Given the description of an element on the screen output the (x, y) to click on. 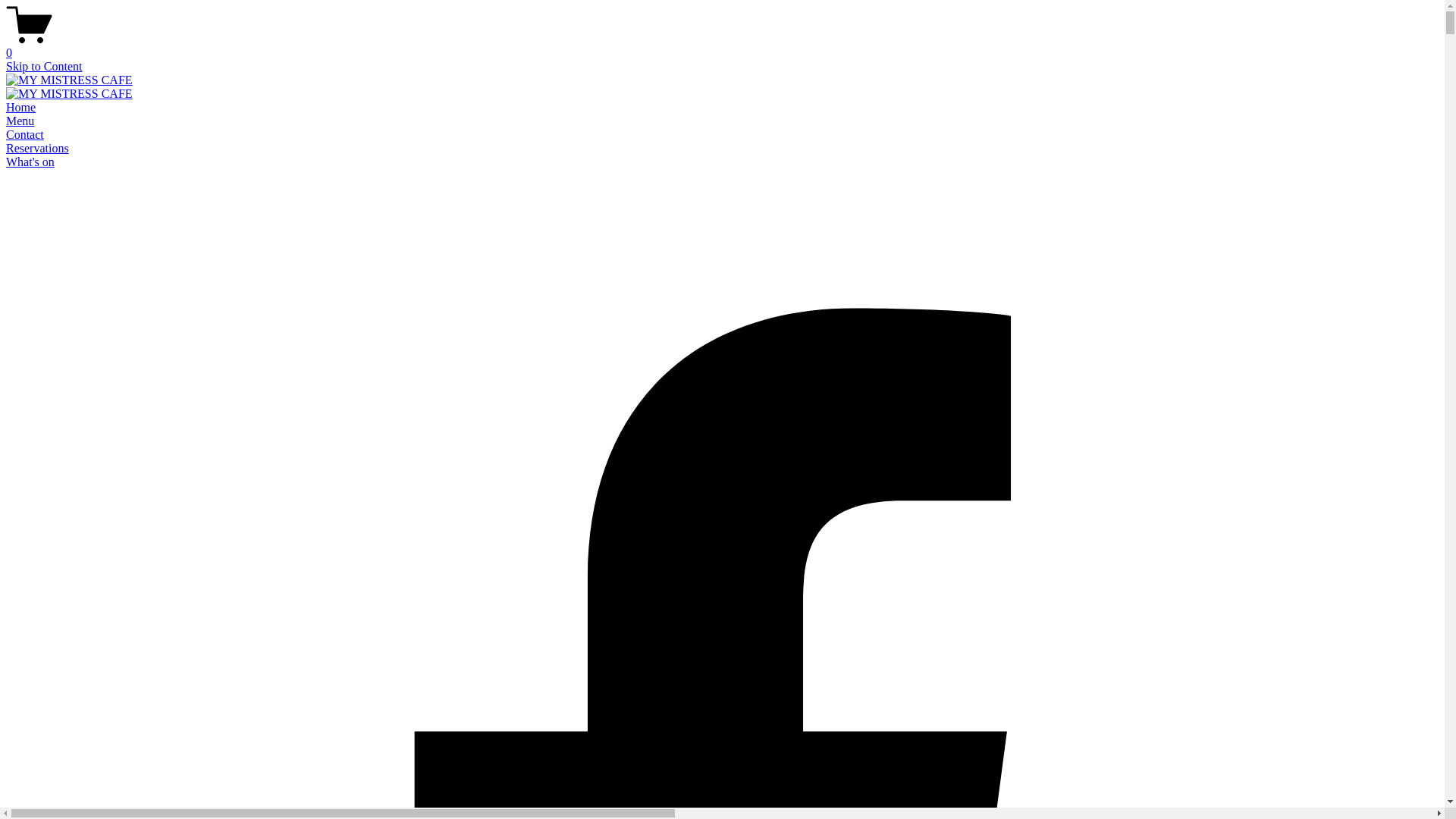
Menu Element type: text (20, 120)
Reservations Element type: text (37, 147)
Skip to Content Element type: text (43, 65)
Home Element type: text (20, 106)
Contact Element type: text (24, 134)
0 Element type: text (722, 45)
What's on Element type: text (30, 161)
